Given the description of an element on the screen output the (x, y) to click on. 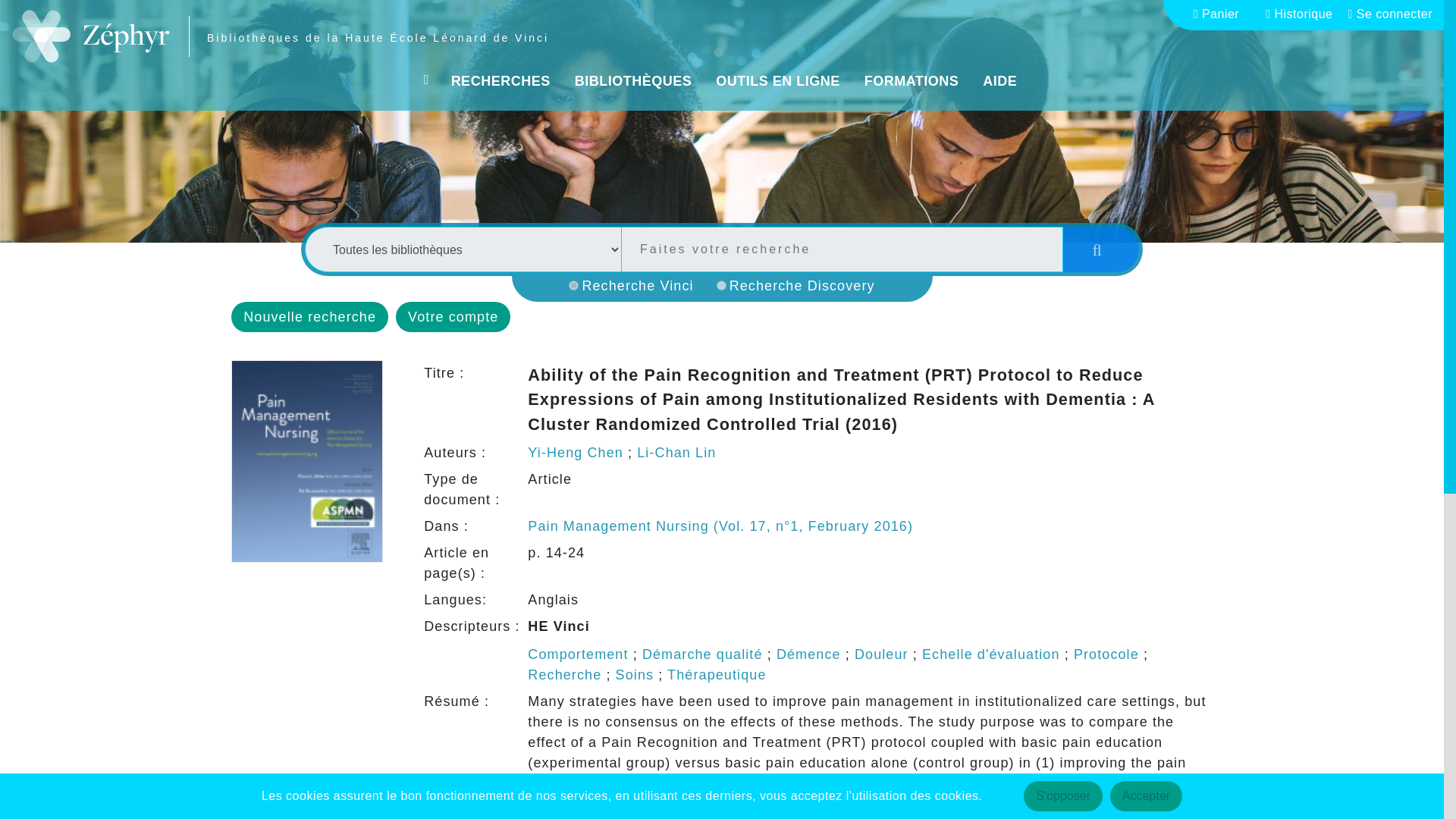
Panier (1221, 13)
Historique (1304, 13)
discovery (721, 285)
vinci (573, 285)
